Given the description of an element on the screen output the (x, y) to click on. 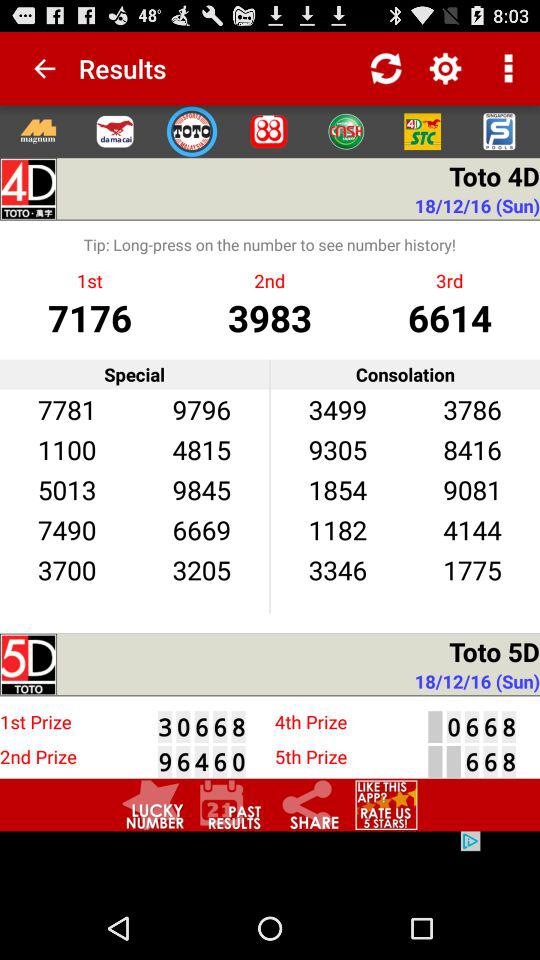
open app (114, 131)
